Given the description of an element on the screen output the (x, y) to click on. 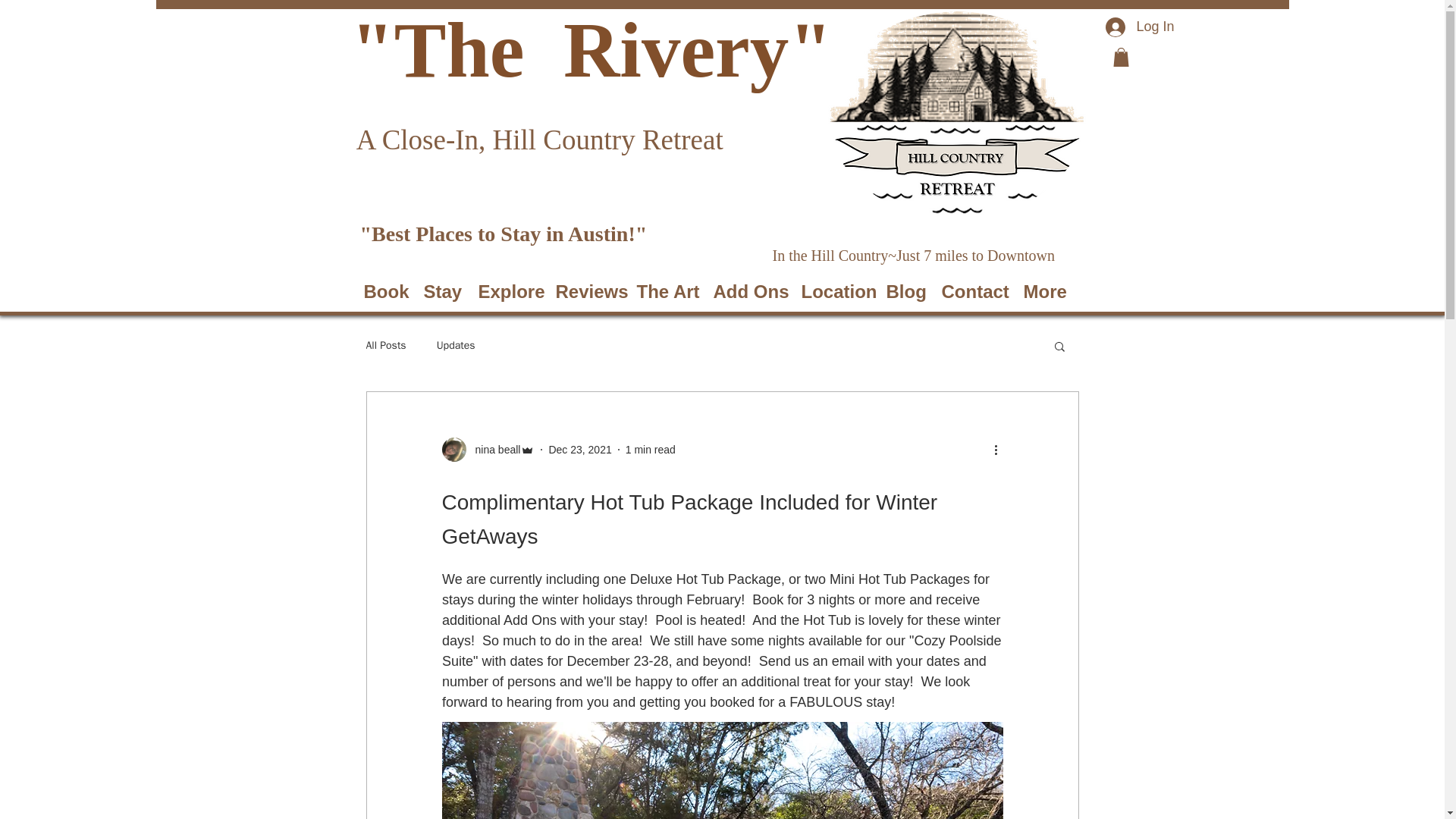
Best Places to Stay in Austin (499, 233)
nina beall (487, 449)
Reviews (585, 291)
Book (382, 291)
The  Rivery" (613, 49)
Updates (456, 345)
Log In (1139, 27)
The Art (662, 291)
Explore (505, 291)
1 min read (650, 449)
